Given the description of an element on the screen output the (x, y) to click on. 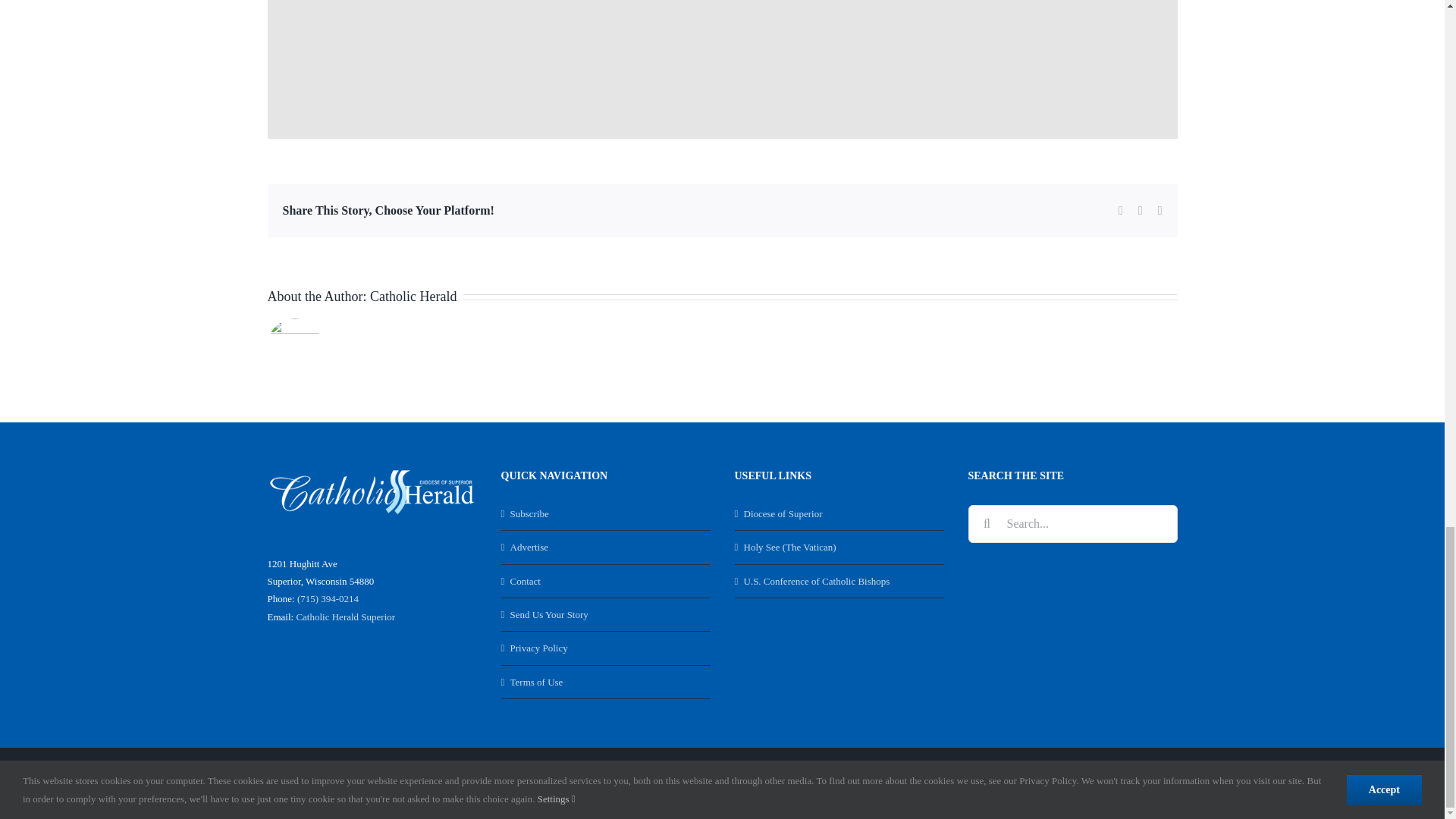
Posts by Catholic Herald (413, 296)
